Given the description of an element on the screen output the (x, y) to click on. 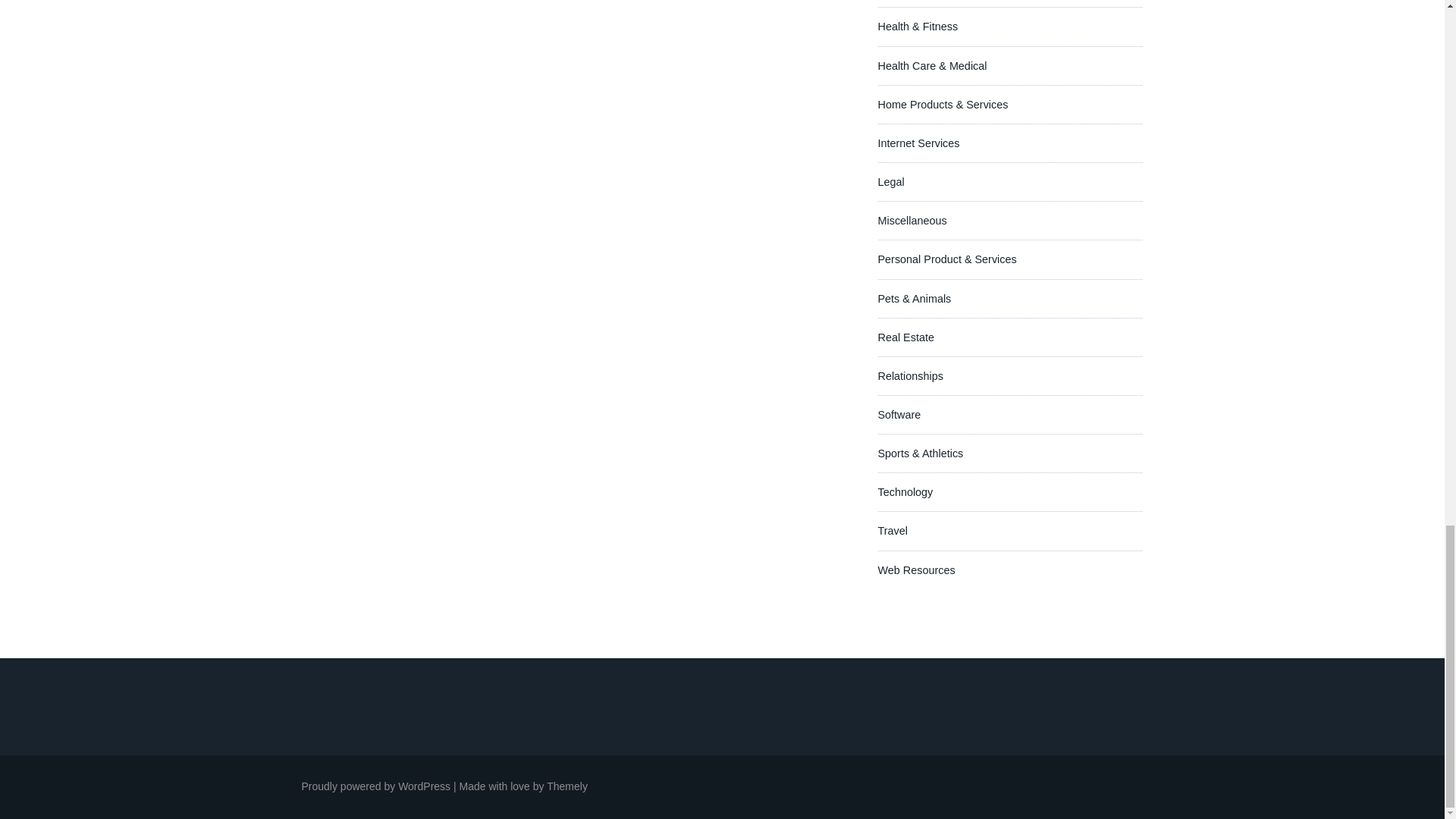
Internet Services (918, 143)
